Given the description of an element on the screen output the (x, y) to click on. 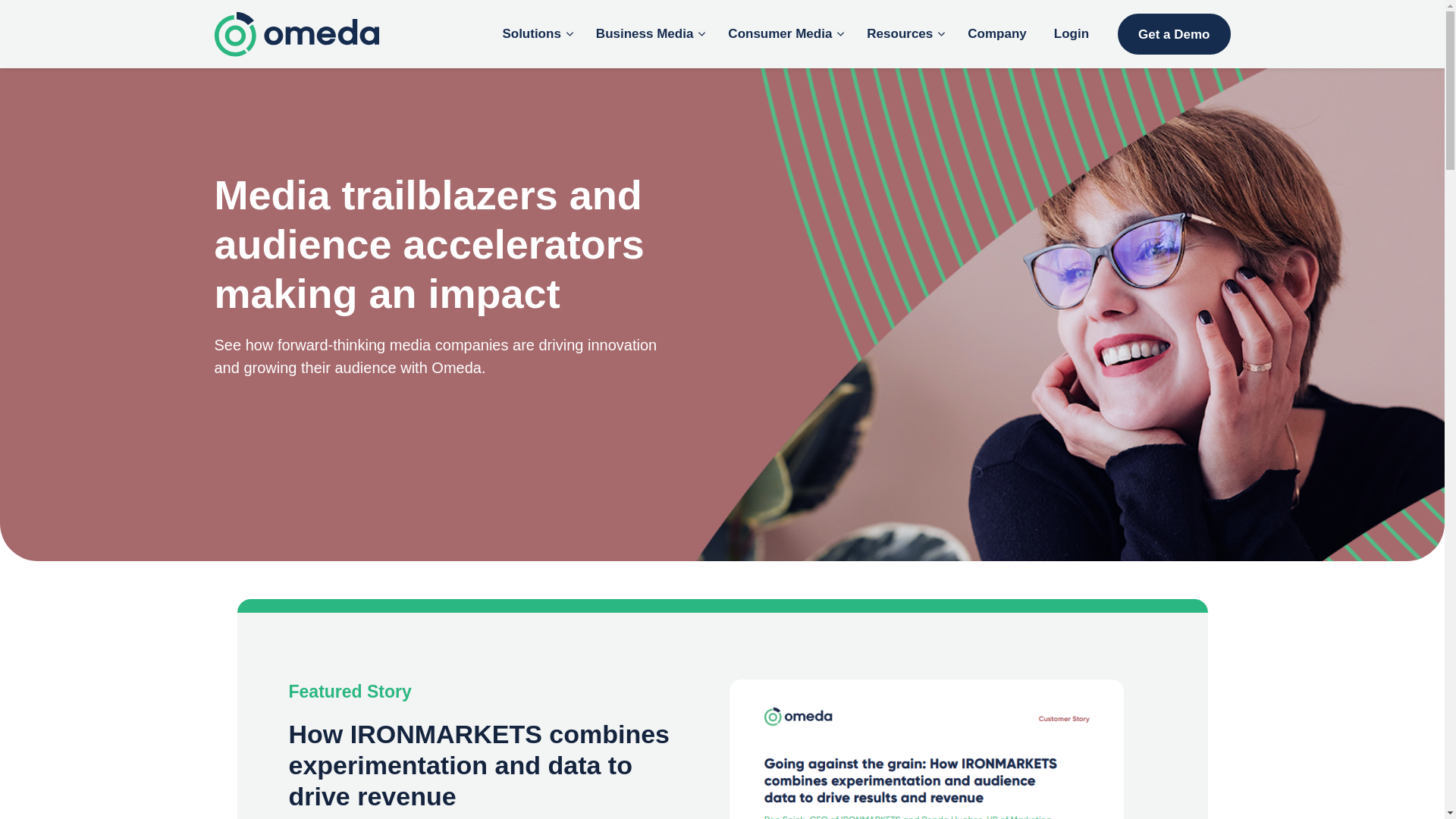
Resources (903, 34)
Consumer Media (783, 34)
Login (1071, 34)
Solutions (533, 34)
Business Media (648, 34)
Get a Demo (1174, 33)
Company (996, 34)
